Given the description of an element on the screen output the (x, y) to click on. 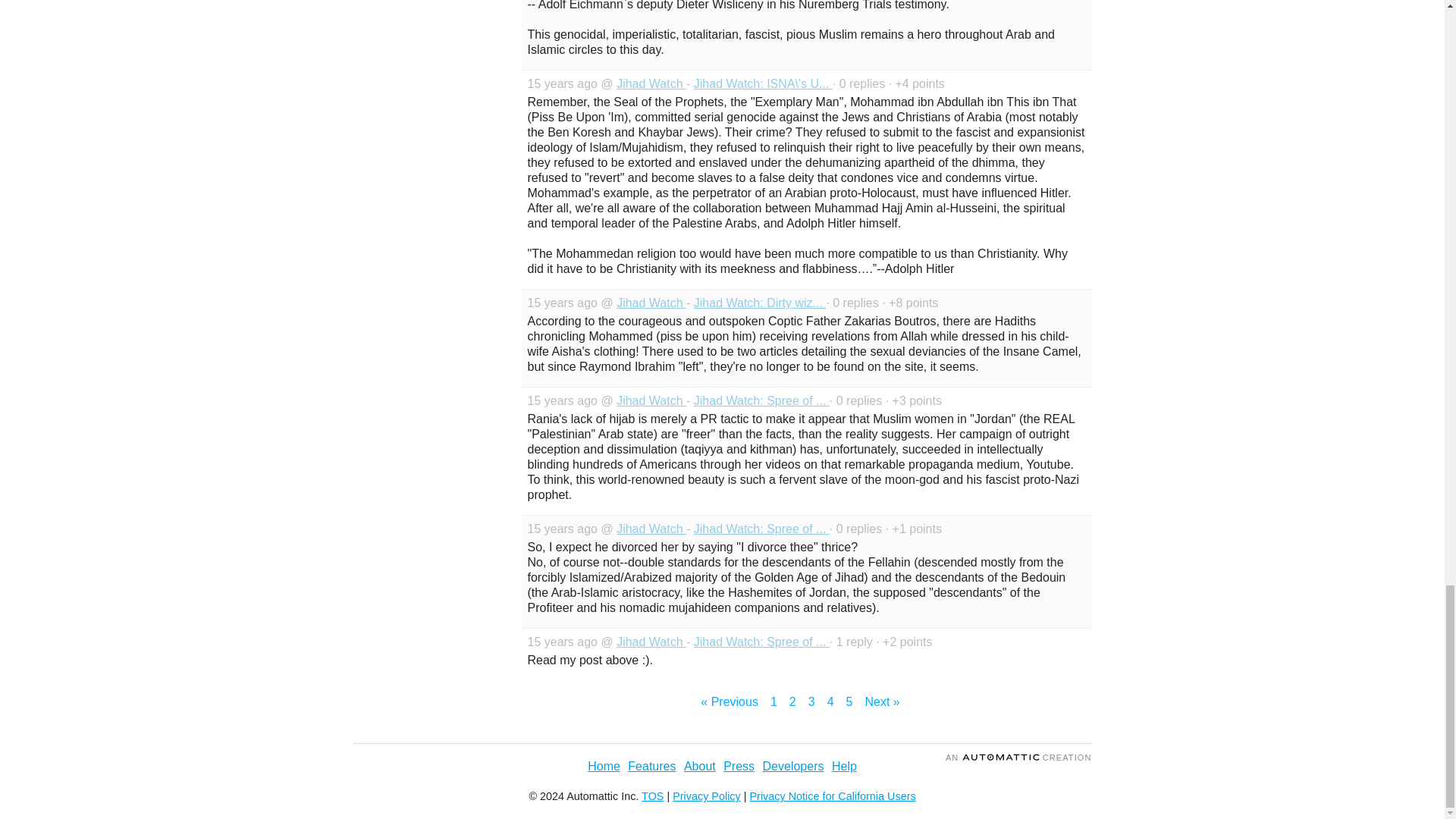
Jihad Watch: Spree of ... (761, 528)
Jihad Watch (650, 302)
Jihad Watch (650, 400)
Jihad Watch: Spree of ... (761, 400)
AN CREATION (1018, 757)
Jihad Watch (650, 528)
Press (738, 766)
About (700, 766)
Jihad Watch (650, 641)
Jihad Watch (650, 83)
Features (651, 766)
Home (604, 766)
Jihad Watch: Spree of ... (761, 641)
Jihad Watch: Dirty wiz... (760, 302)
